Given the description of an element on the screen output the (x, y) to click on. 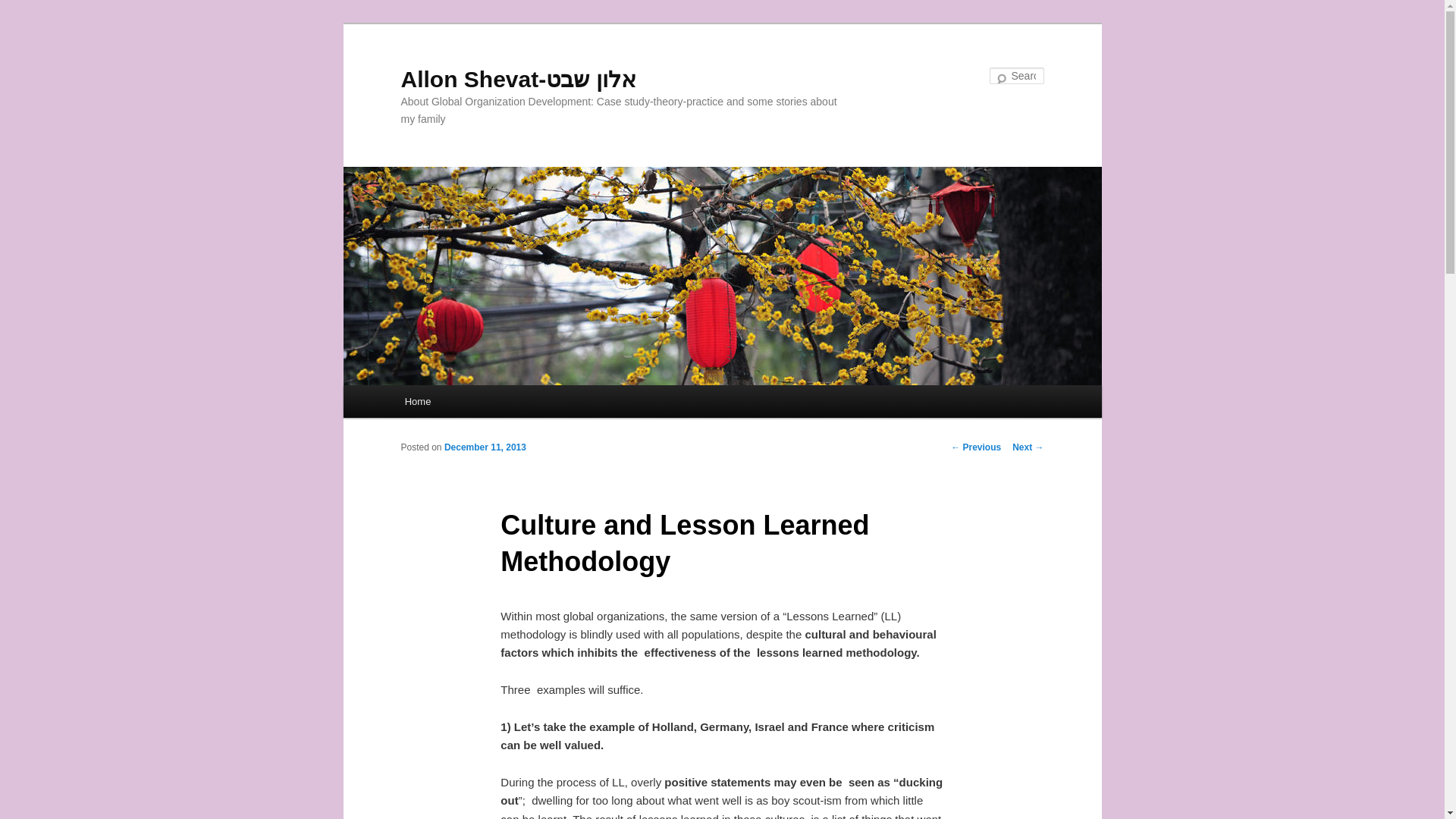
Home (417, 400)
12:55 (484, 447)
December 11, 2013 (484, 447)
Search (24, 8)
